Given the description of an element on the screen output the (x, y) to click on. 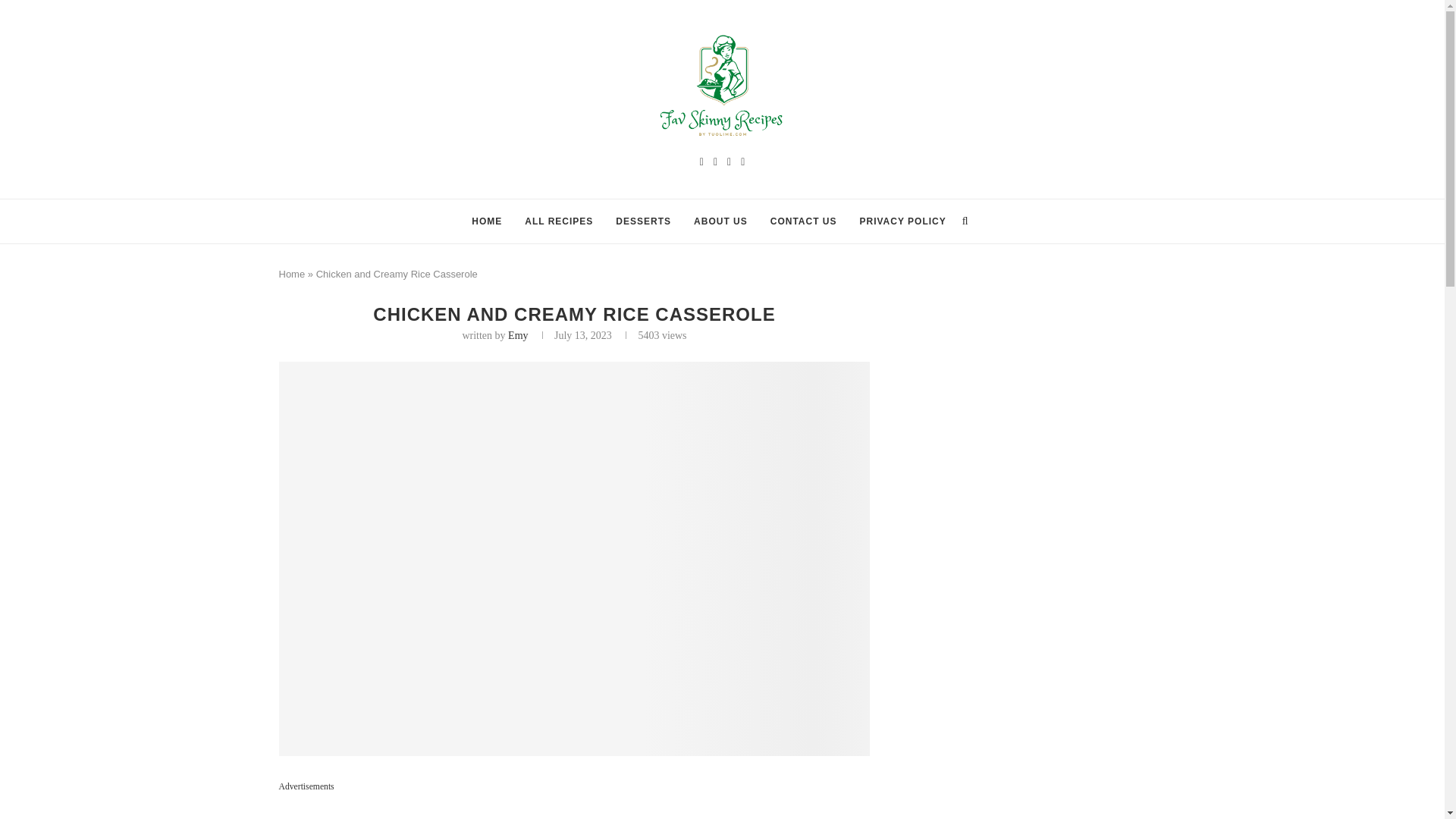
CONTACT US (803, 220)
Home (292, 274)
HOME (486, 220)
Advertisement (574, 808)
DESSERTS (643, 220)
ABOUT US (721, 220)
ALL RECIPES (558, 220)
Emy (517, 335)
PRIVACY POLICY (903, 220)
